Given the description of an element on the screen output the (x, y) to click on. 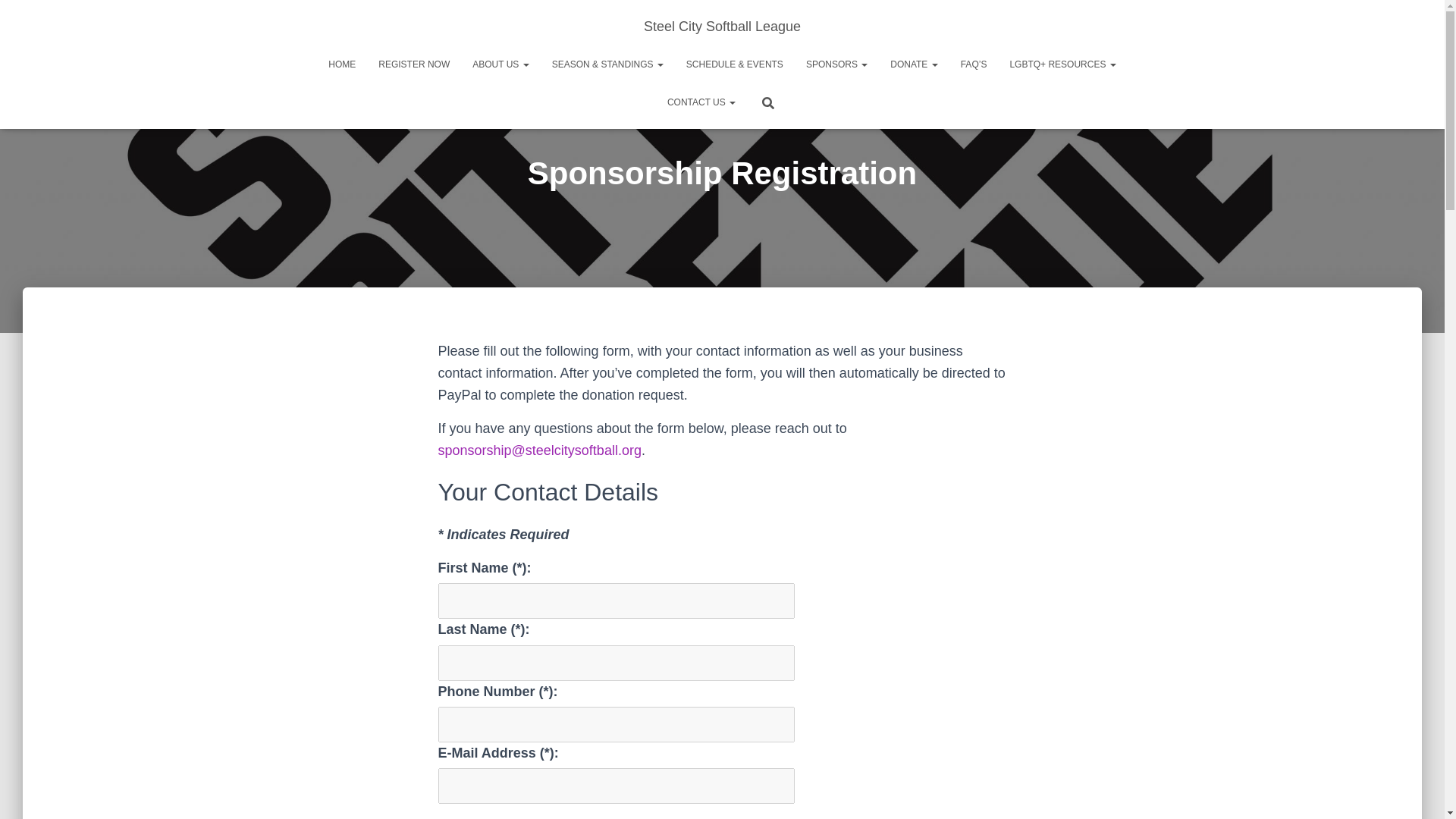
Search (16, 16)
Home (341, 64)
About Us (500, 64)
ABOUT US (500, 64)
SPONSORS (836, 64)
CONTACT US (701, 102)
REGISTER NOW (413, 64)
Steel City Softball League (721, 26)
HOME (341, 64)
Steel City Softball League (721, 26)
